Given the description of an element on the screen output the (x, y) to click on. 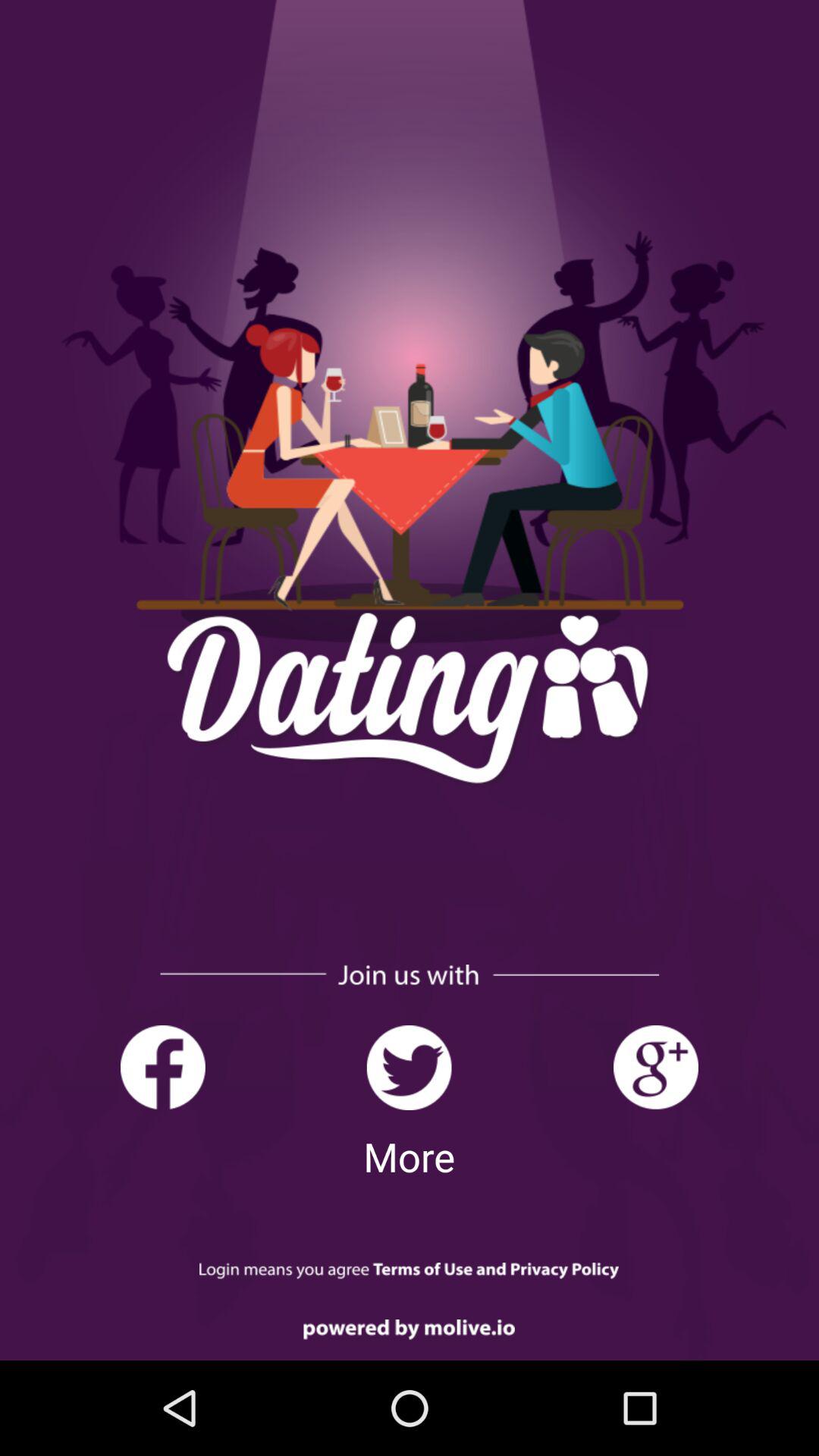
login option (408, 1270)
